Given the description of an element on the screen output the (x, y) to click on. 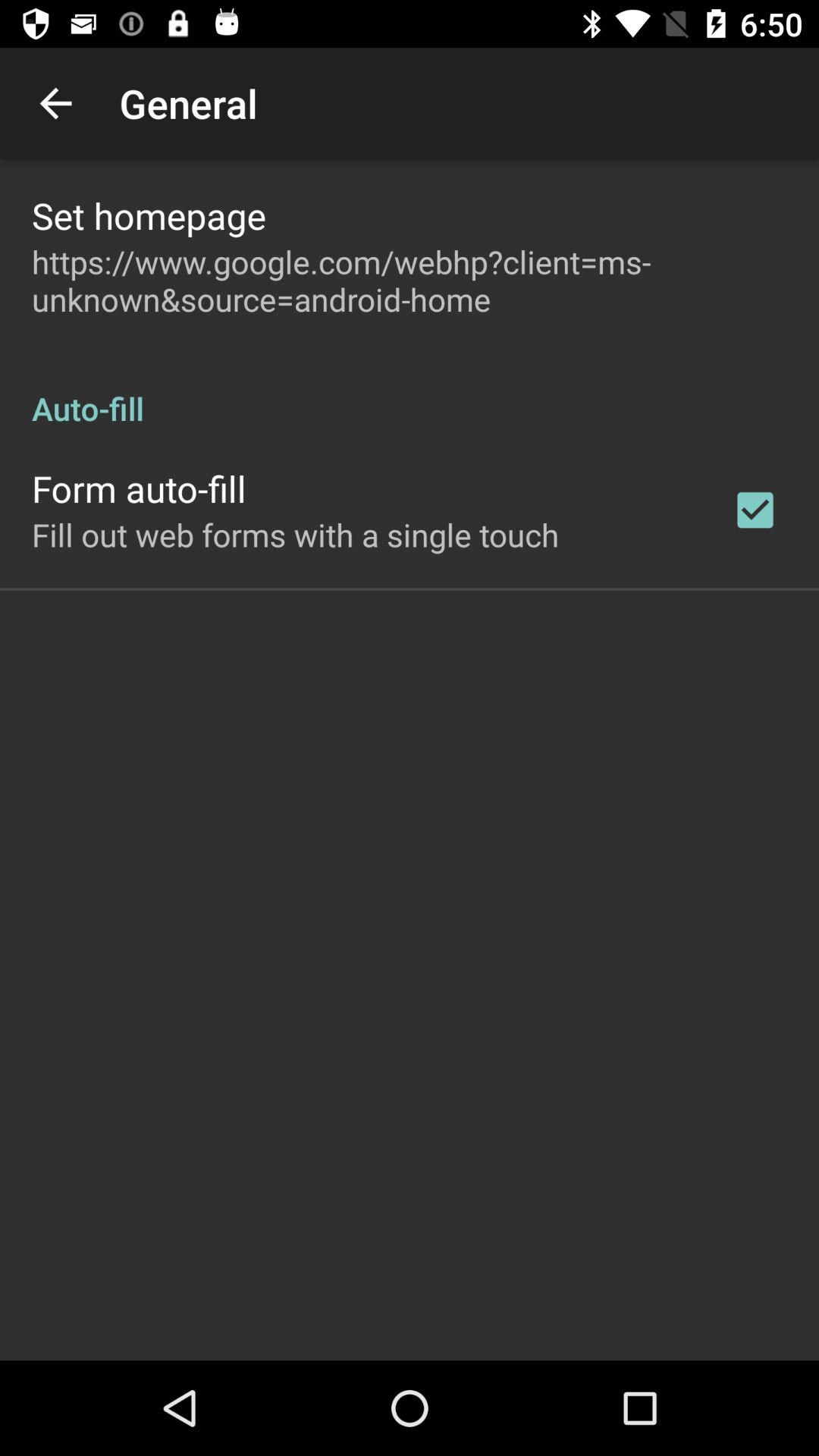
choose icon above the auto-fill item (409, 280)
